Given the description of an element on the screen output the (x, y) to click on. 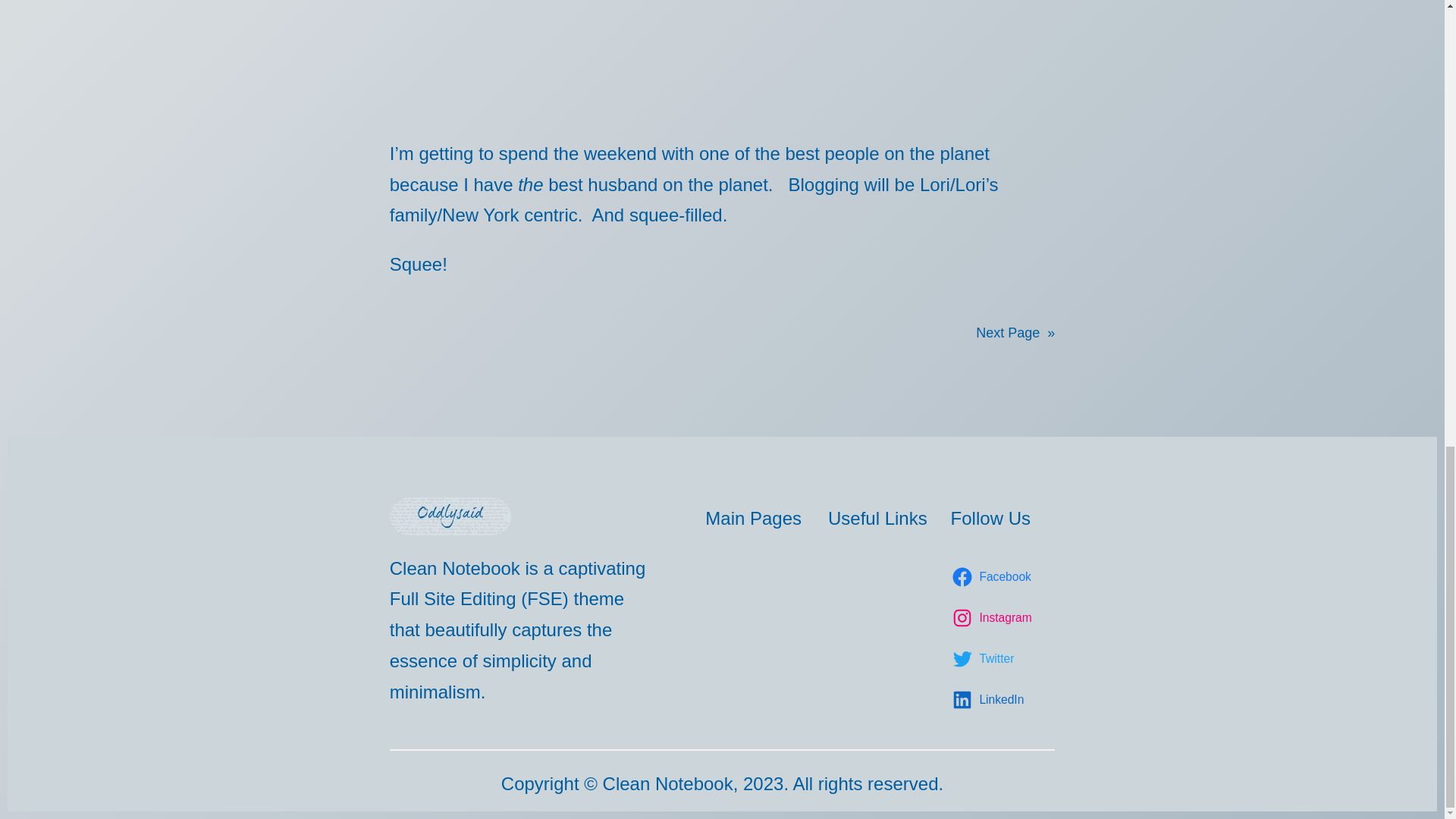
Facebook (993, 576)
Instagram (994, 617)
YouTube video player (572, 55)
LinkedIn (990, 699)
Twitter (985, 658)
